Given the description of an element on the screen output the (x, y) to click on. 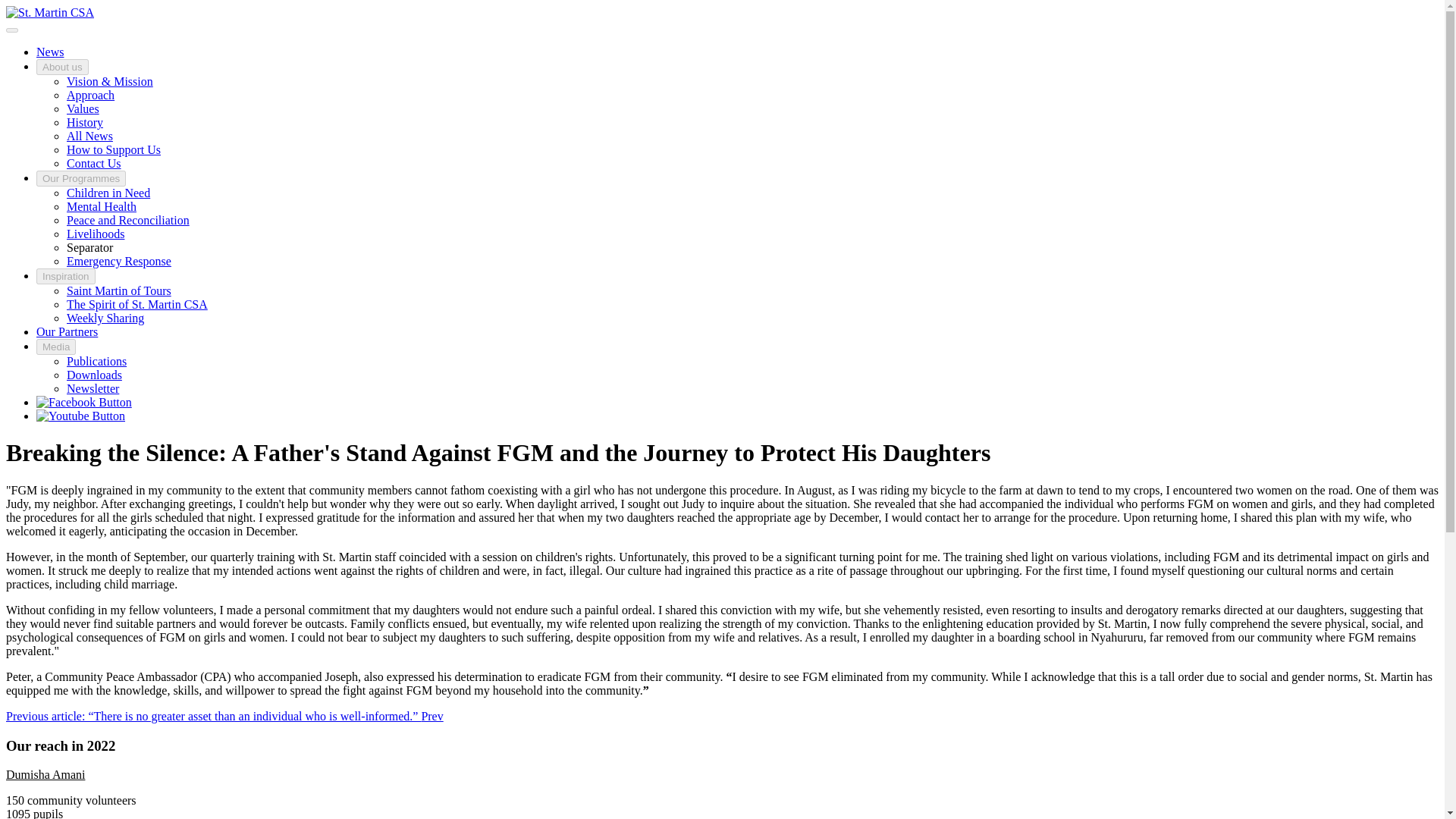
All News (89, 135)
Saint Martin of Tours (118, 290)
About us (62, 66)
Mental Health (101, 205)
Values (82, 108)
The Spirit of St. Martin CSA (137, 304)
Our Partners (66, 331)
How to Support Us (113, 149)
History (84, 122)
Contact Us (93, 163)
Weekly Sharing (105, 318)
Inspiration (66, 276)
News (50, 51)
Peace and Reconciliation (127, 219)
Publications (96, 360)
